Given the description of an element on the screen output the (x, y) to click on. 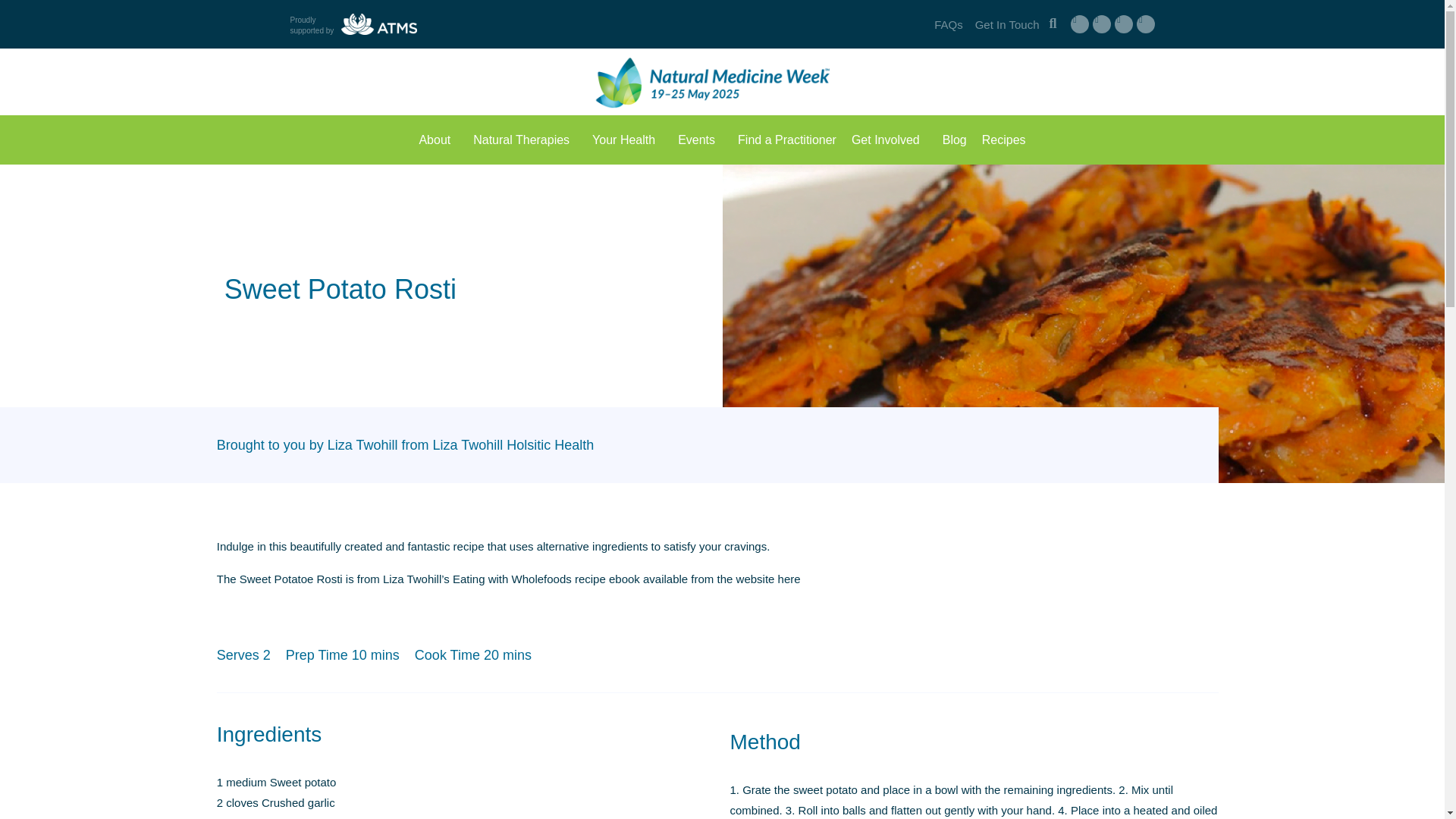
Get In Touch (1007, 23)
Natural Therapies (525, 139)
About (437, 139)
FAQs (948, 23)
